Given the description of an element on the screen output the (x, y) to click on. 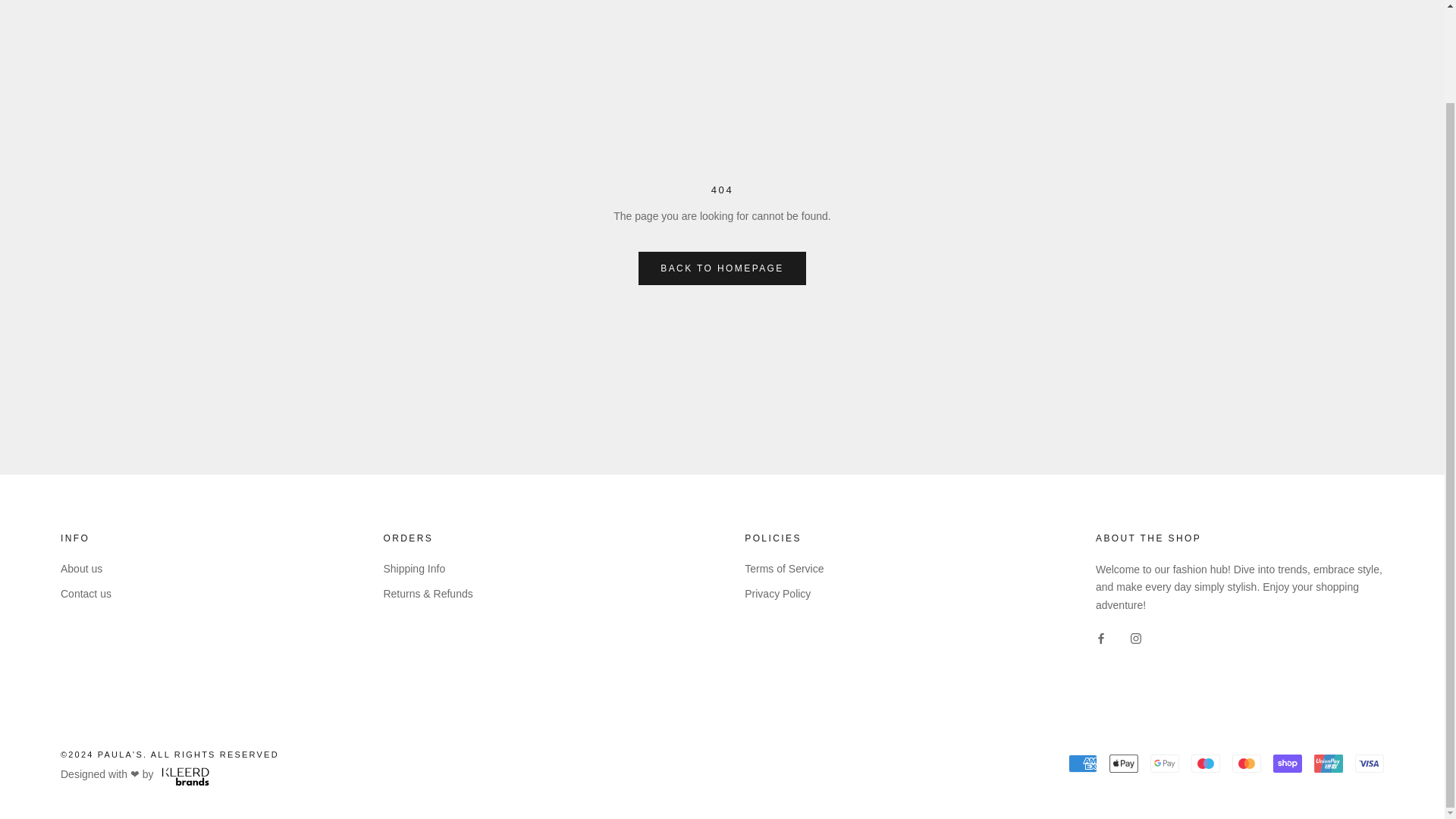
American Express (1082, 763)
Contact us (86, 593)
Visa (1369, 763)
Union Pay (1328, 763)
BACK TO HOMEPAGE (722, 268)
Google Pay (1164, 763)
Maestro (1205, 763)
Mastercard (1245, 763)
Shop Pay (1286, 763)
About us (86, 569)
Apple Pay (1123, 763)
